Given the description of an element on the screen output the (x, y) to click on. 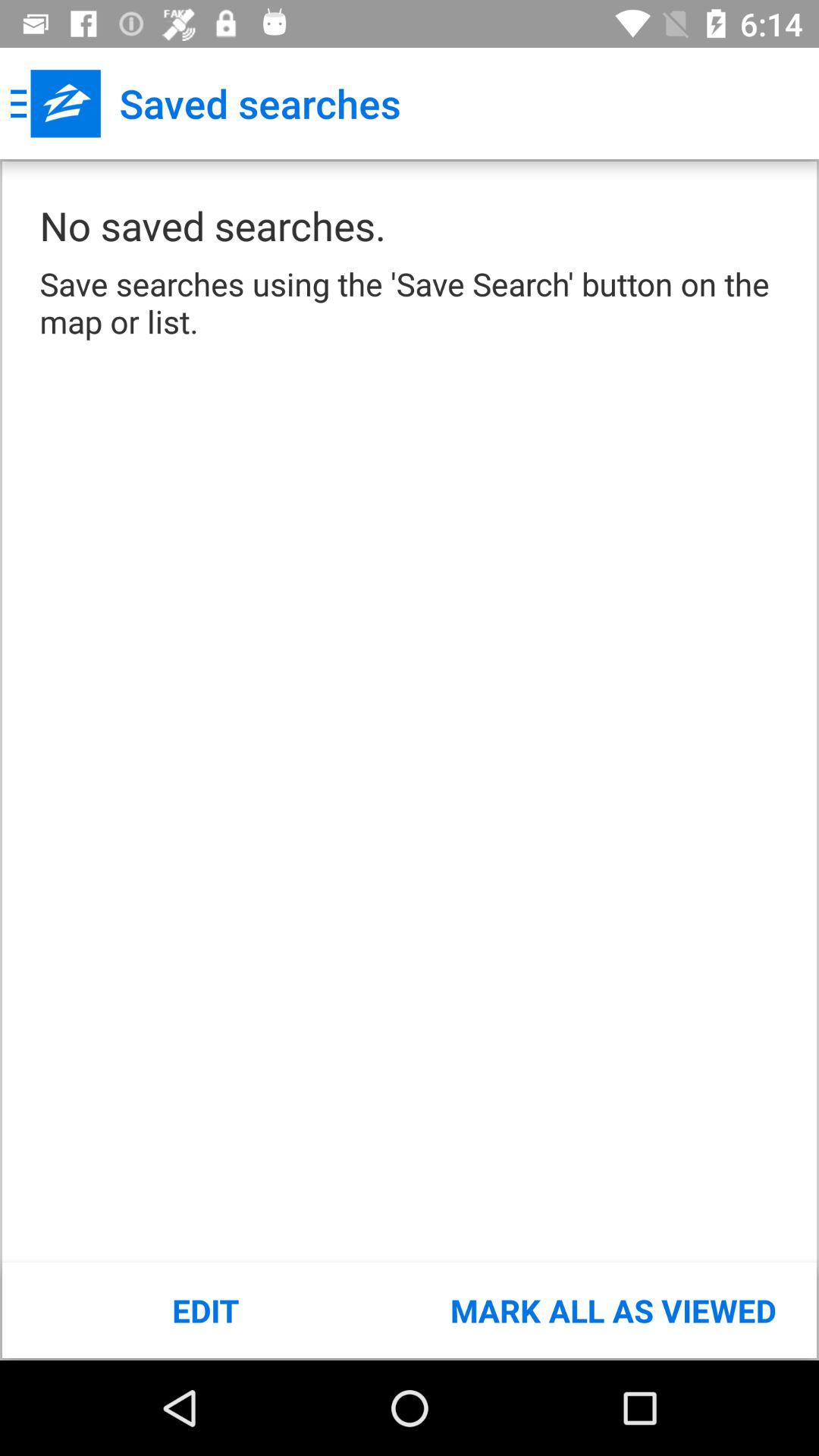
jump until mark all as item (612, 1310)
